Given the description of an element on the screen output the (x, y) to click on. 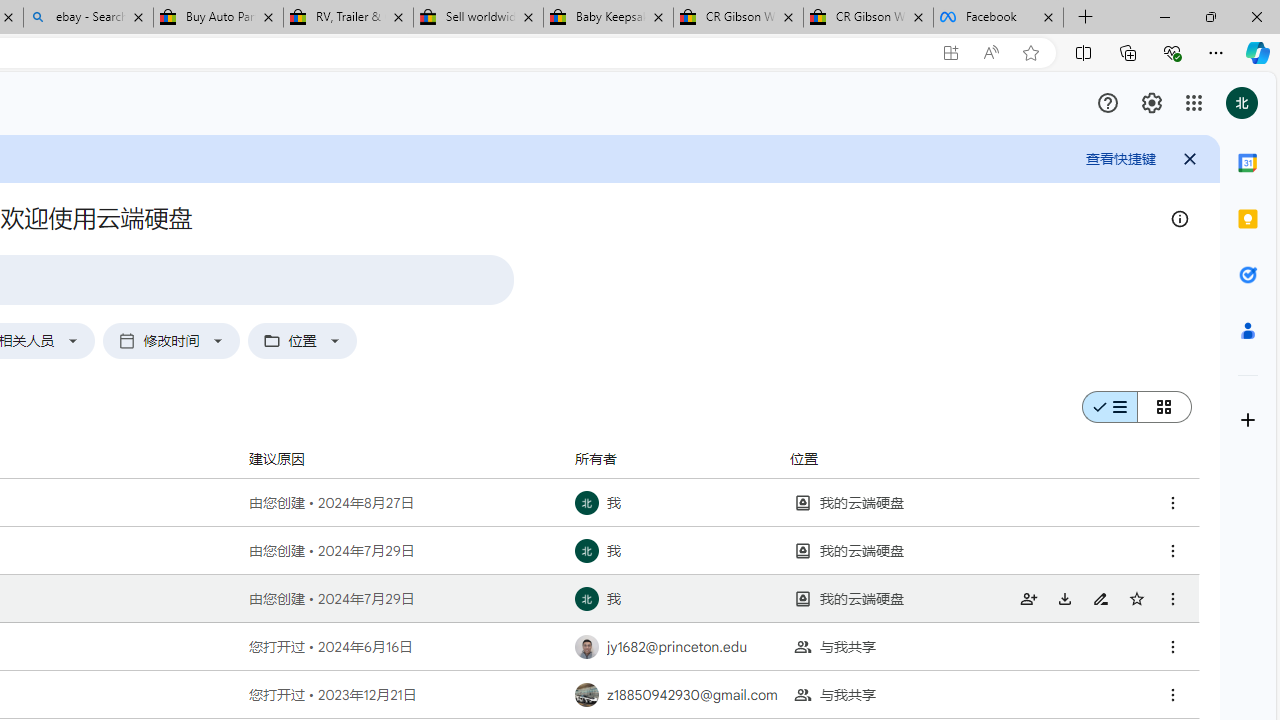
Keep (1247, 218)
Class:  a-s-fa-Ha-pa c-qd (1151, 102)
Tasks (1247, 274)
